Given the description of an element on the screen output the (x, y) to click on. 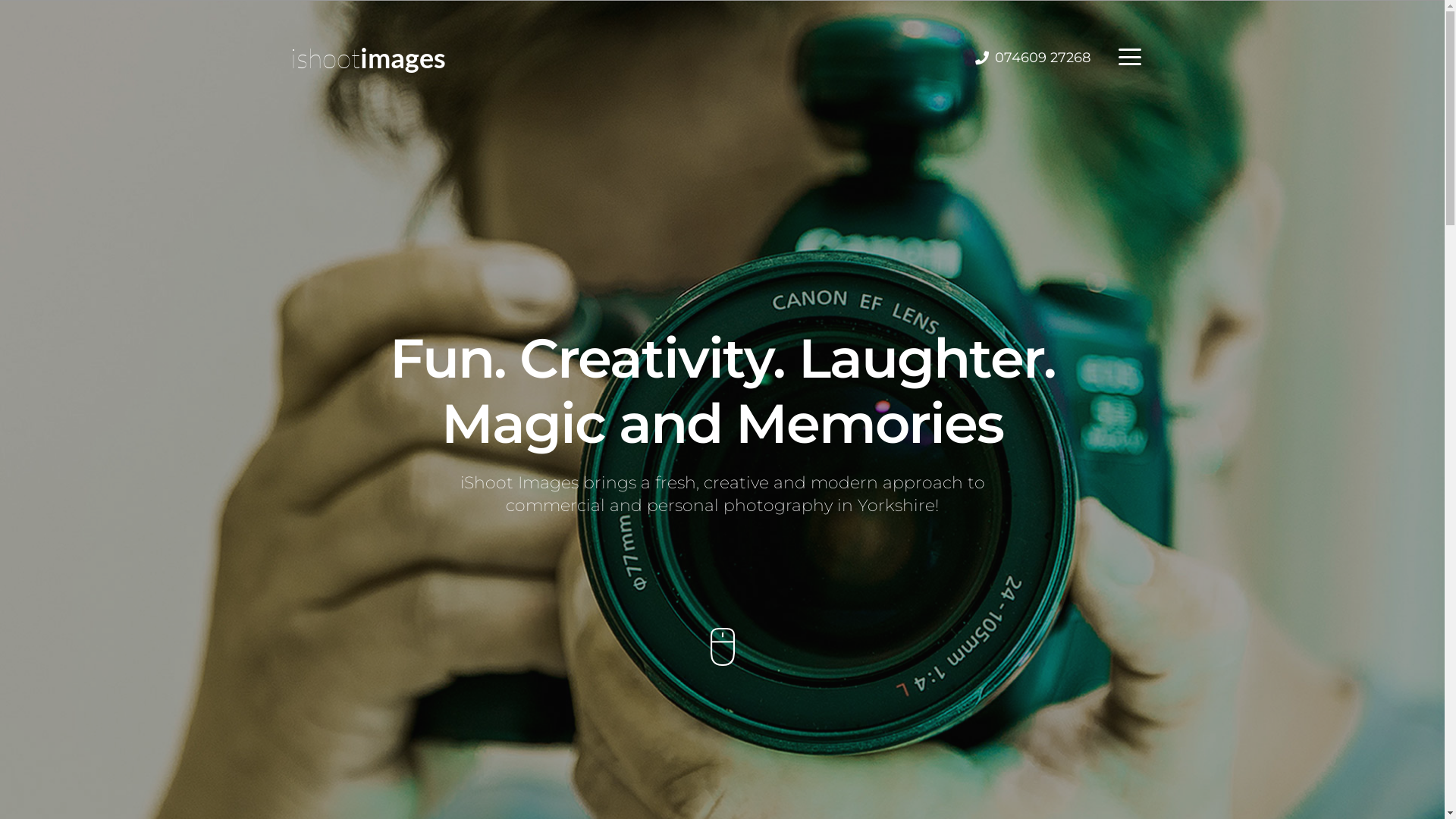
ishootimages Element type: text (367, 57)
074609 27268 Element type: text (1032, 56)
